Given the description of an element on the screen output the (x, y) to click on. 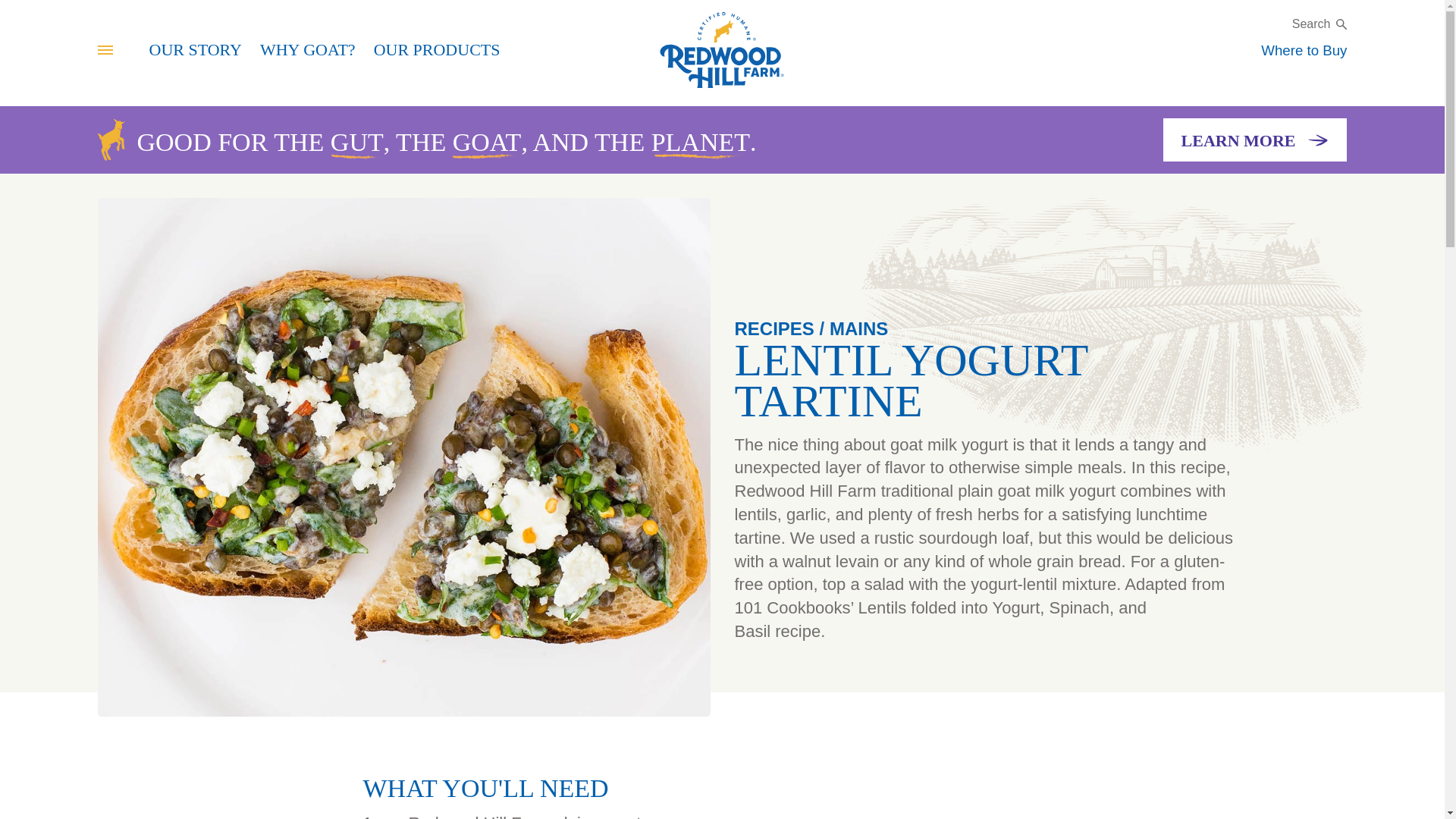
OUR STORY (194, 48)
OUR PRODUCTS (437, 48)
WHY GOAT? (307, 48)
Where to Buy (1303, 50)
Search (1320, 23)
